Given the description of an element on the screen output the (x, y) to click on. 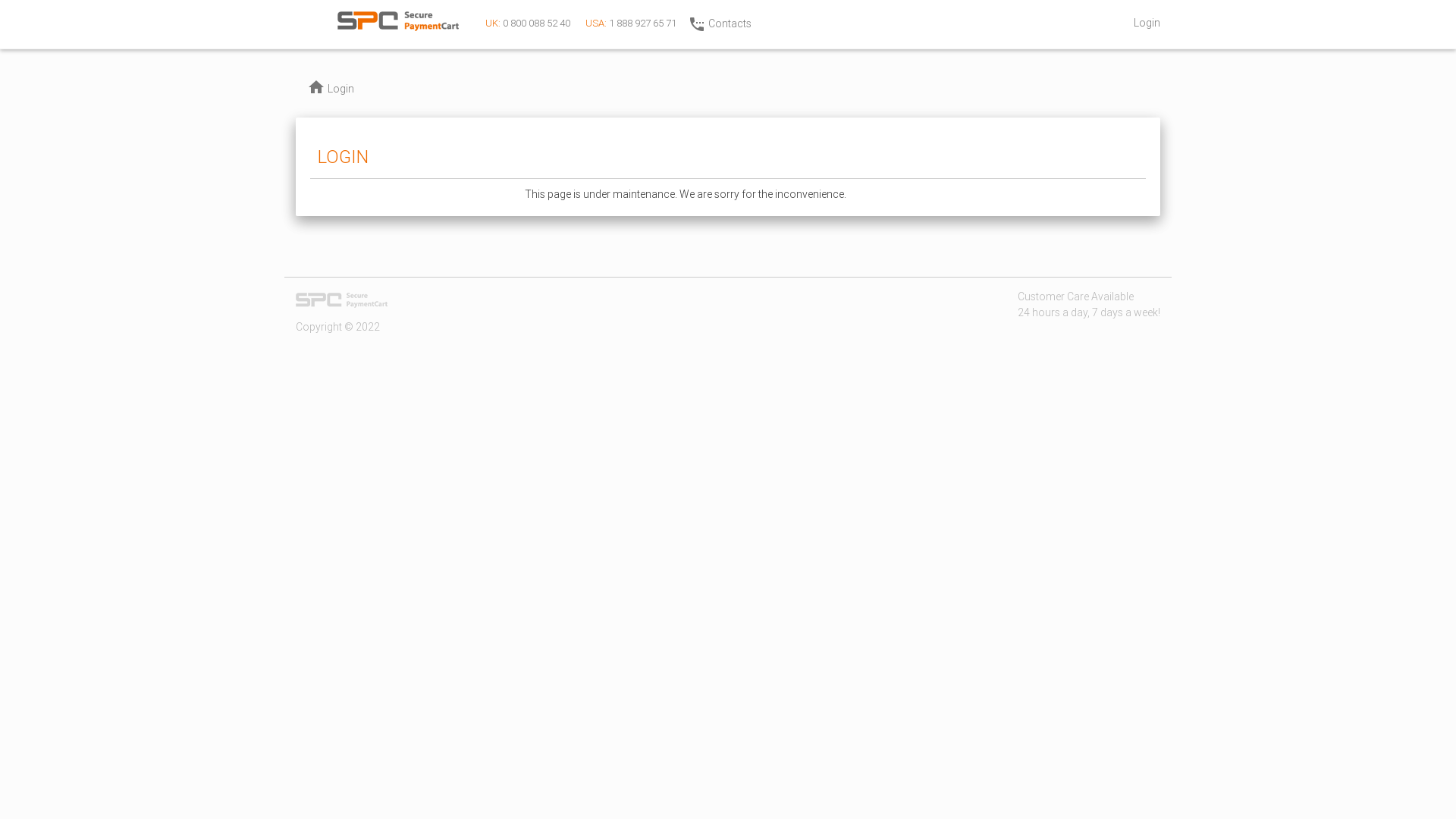
settings_phone Contacts Element type: text (719, 24)
Login Element type: text (1146, 22)
